Given the description of an element on the screen output the (x, y) to click on. 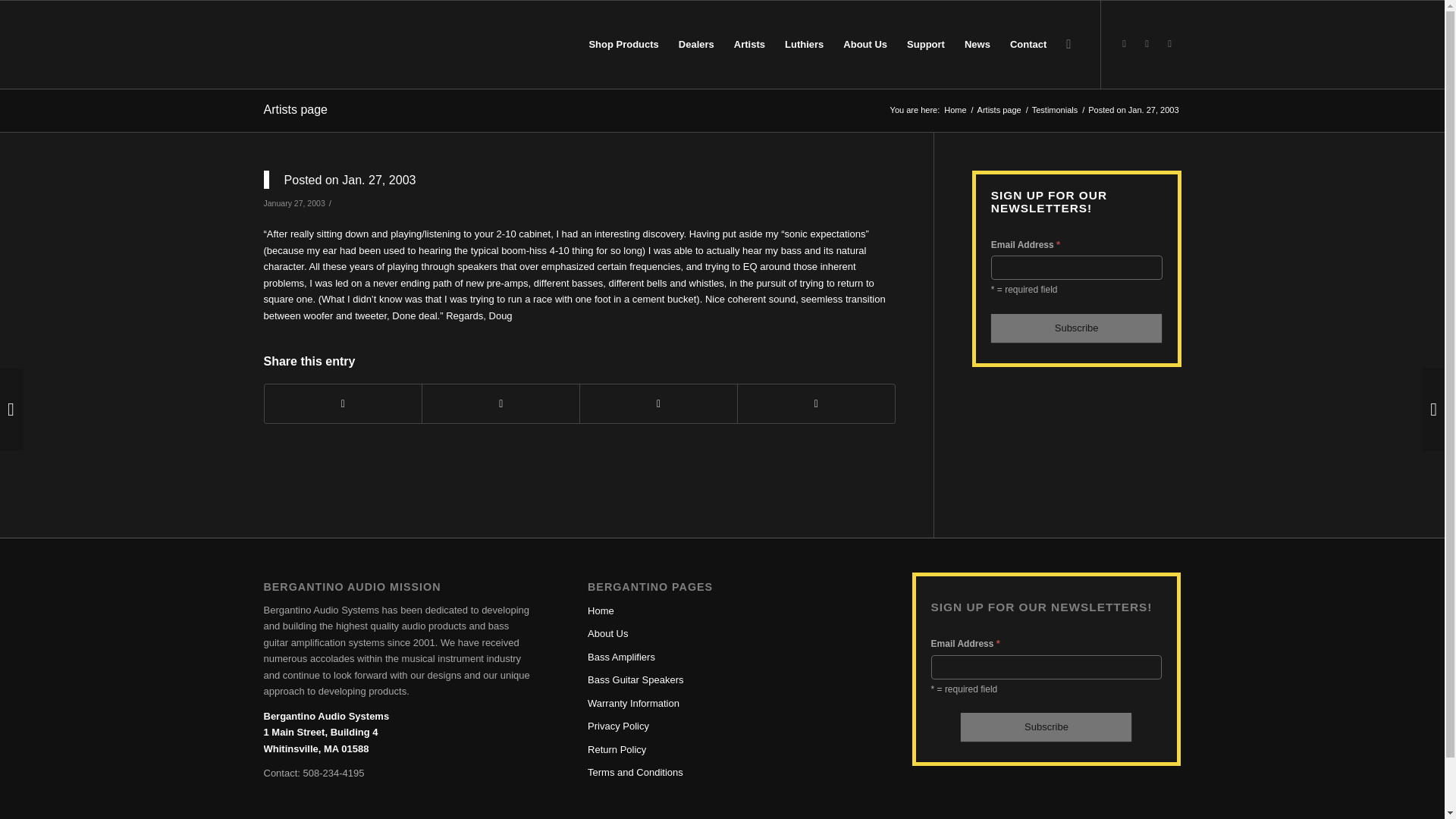
Facebook (1124, 43)
Artists page (999, 110)
Youtube (1146, 43)
Permanent Link: Artists page (295, 109)
Shop Products (623, 44)
Instagram (1169, 43)
Bergantino Audio Systems (955, 110)
